Given the description of an element on the screen output the (x, y) to click on. 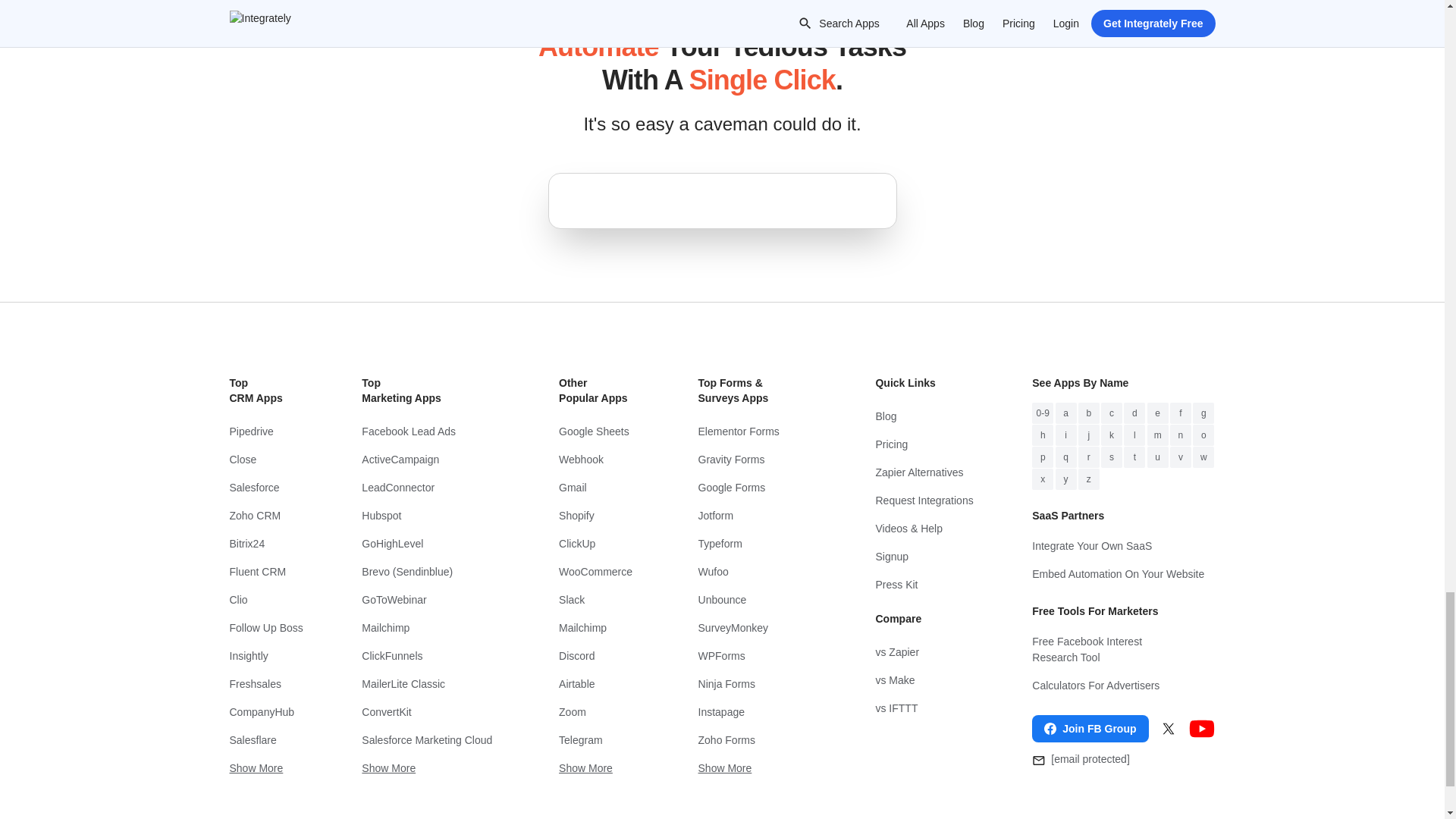
Follow Up Boss (265, 628)
GoHighLevel (430, 543)
Salesflare (265, 740)
Insightly (265, 656)
Hubspot (430, 515)
Bitrix24 (265, 543)
Clio (265, 600)
Close (265, 459)
CompanyHub (265, 712)
Facebook Lead Ads (430, 431)
